Given the description of an element on the screen output the (x, y) to click on. 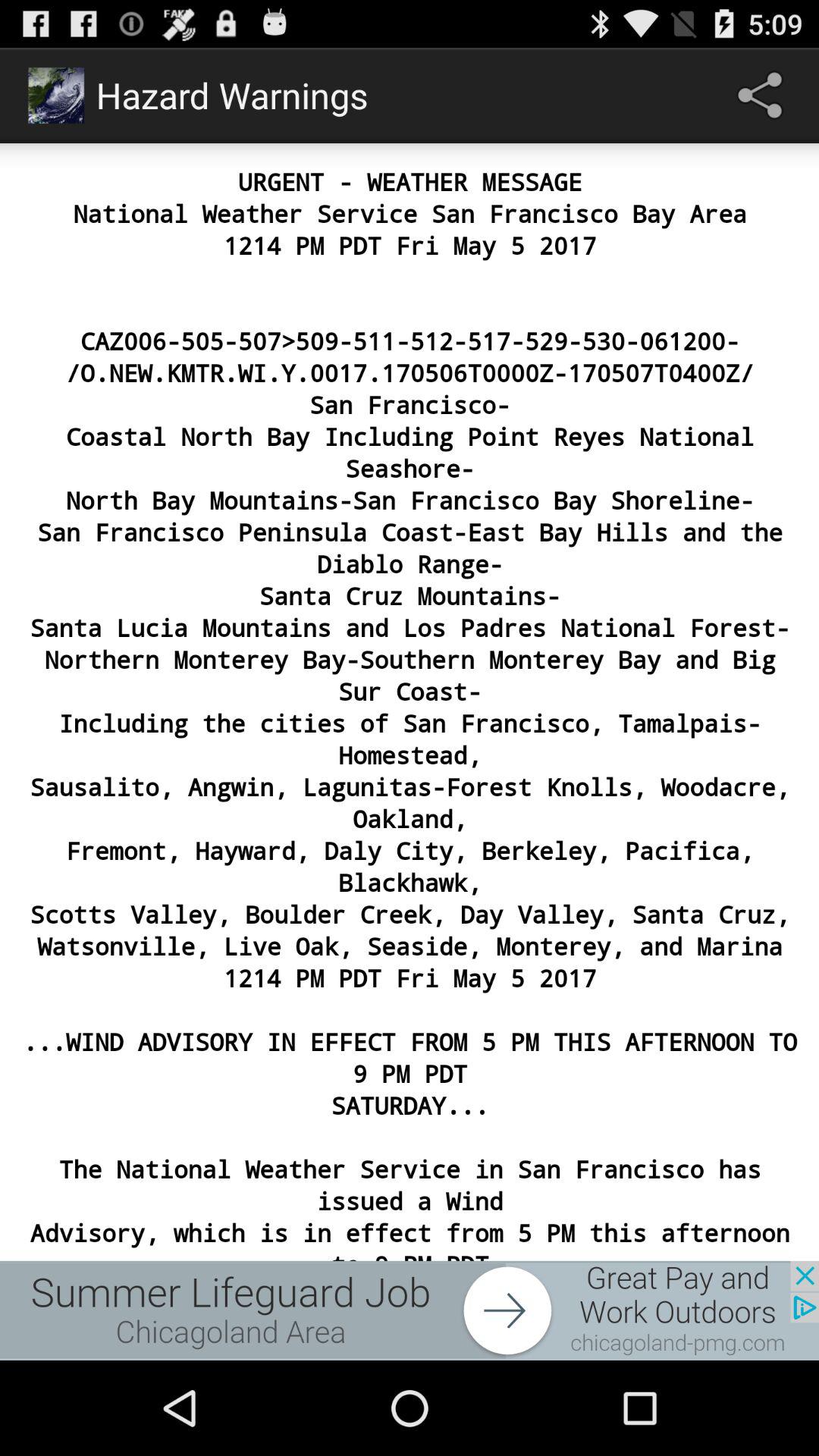
open advertisement (409, 1310)
